Given the description of an element on the screen output the (x, y) to click on. 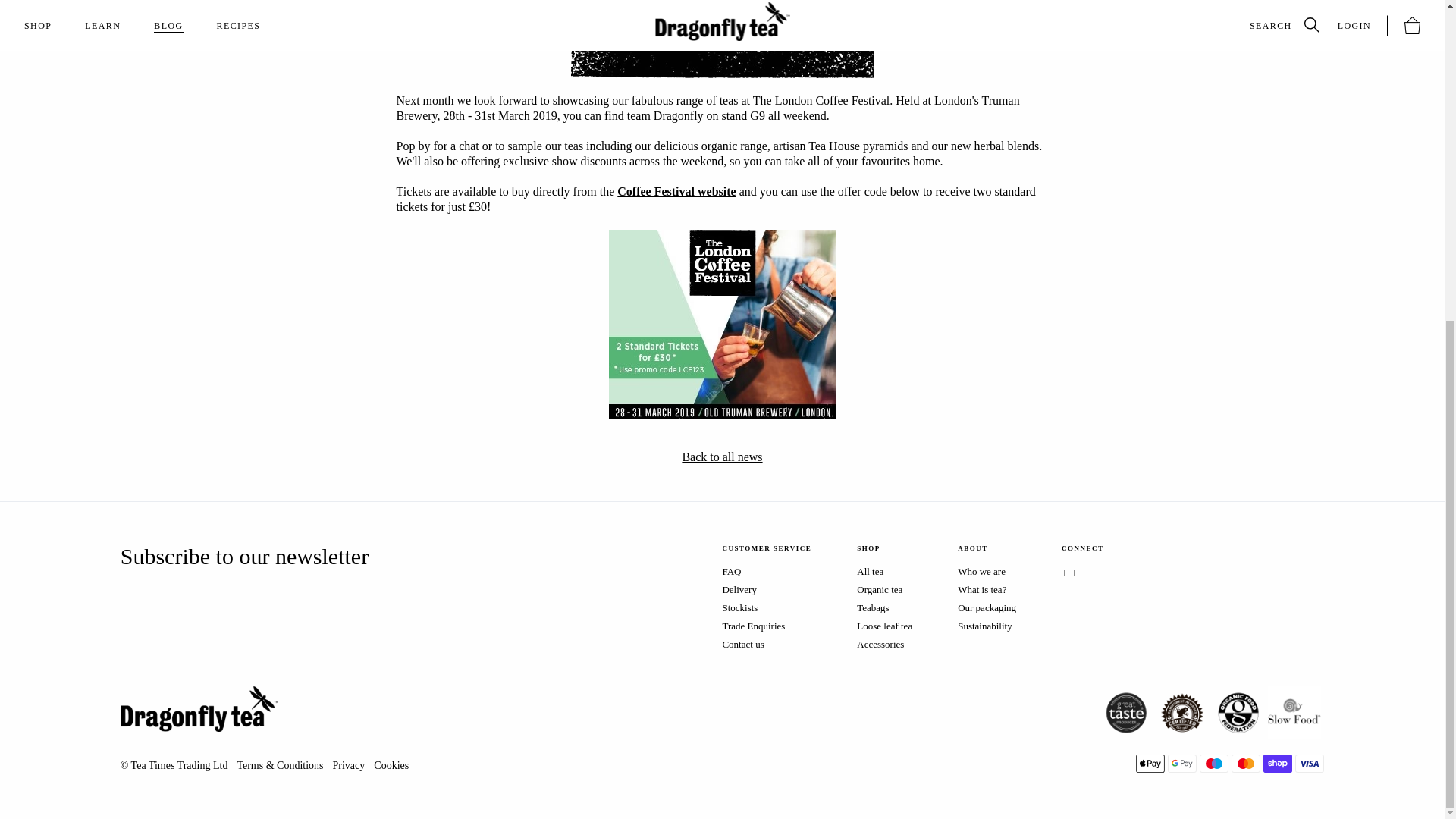
Google Pay (1181, 763)
Shop Pay (1277, 763)
Mastercard (1245, 763)
Maestro (1213, 763)
Dragonfly tea logo (199, 709)
Apple Pay (1149, 763)
Visa (1309, 763)
